Given the description of an element on the screen output the (x, y) to click on. 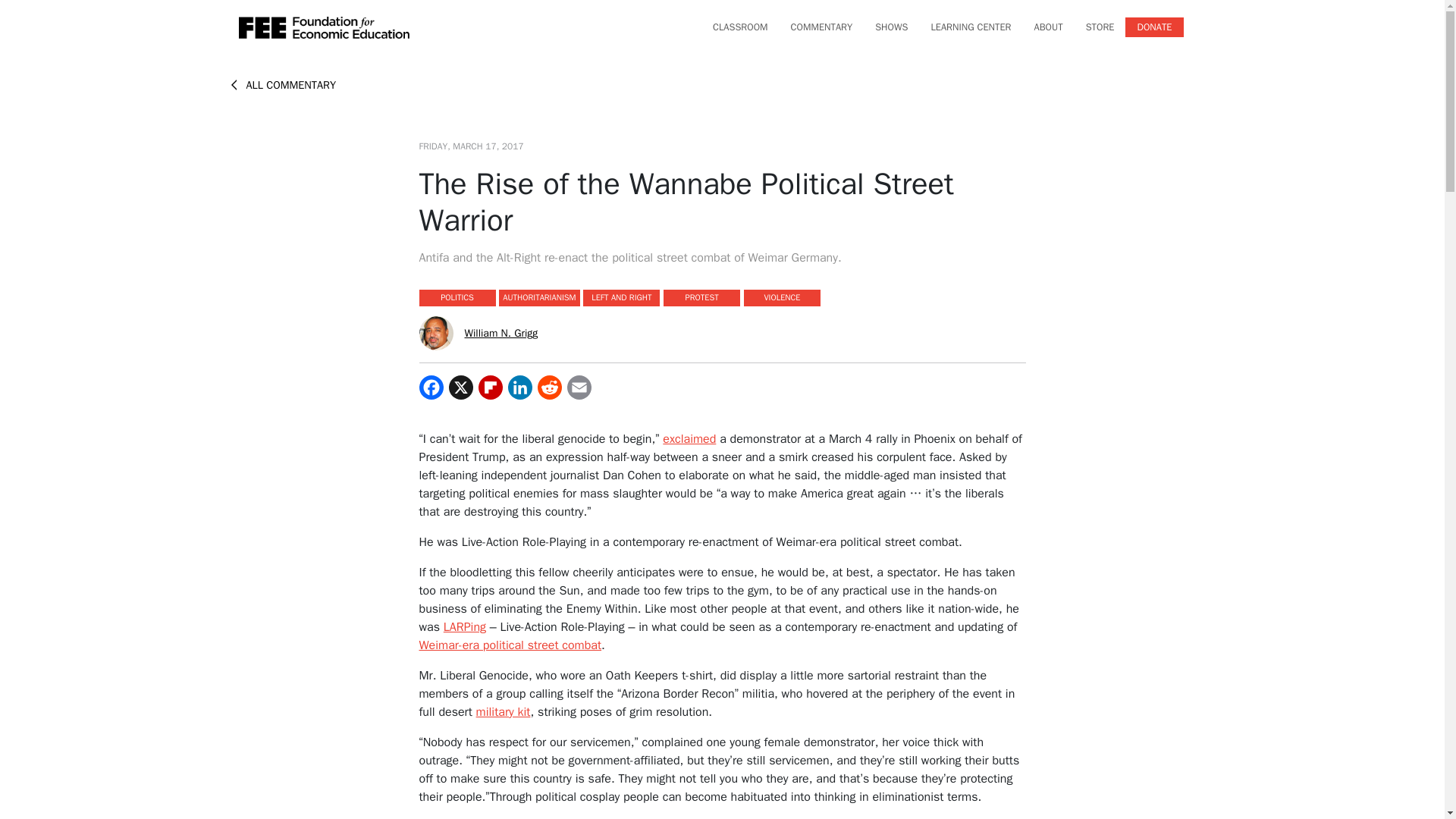
Twitter (460, 387)
Flipboard (489, 387)
ALL COMMENTARY (282, 84)
William N. Grigg (435, 331)
Weimar-era political street combat (510, 645)
AUTHORITARIANISM (538, 297)
LinkedIn (520, 387)
William N. Grigg (500, 332)
LEARNING CENTER (970, 26)
